Given the description of an element on the screen output the (x, y) to click on. 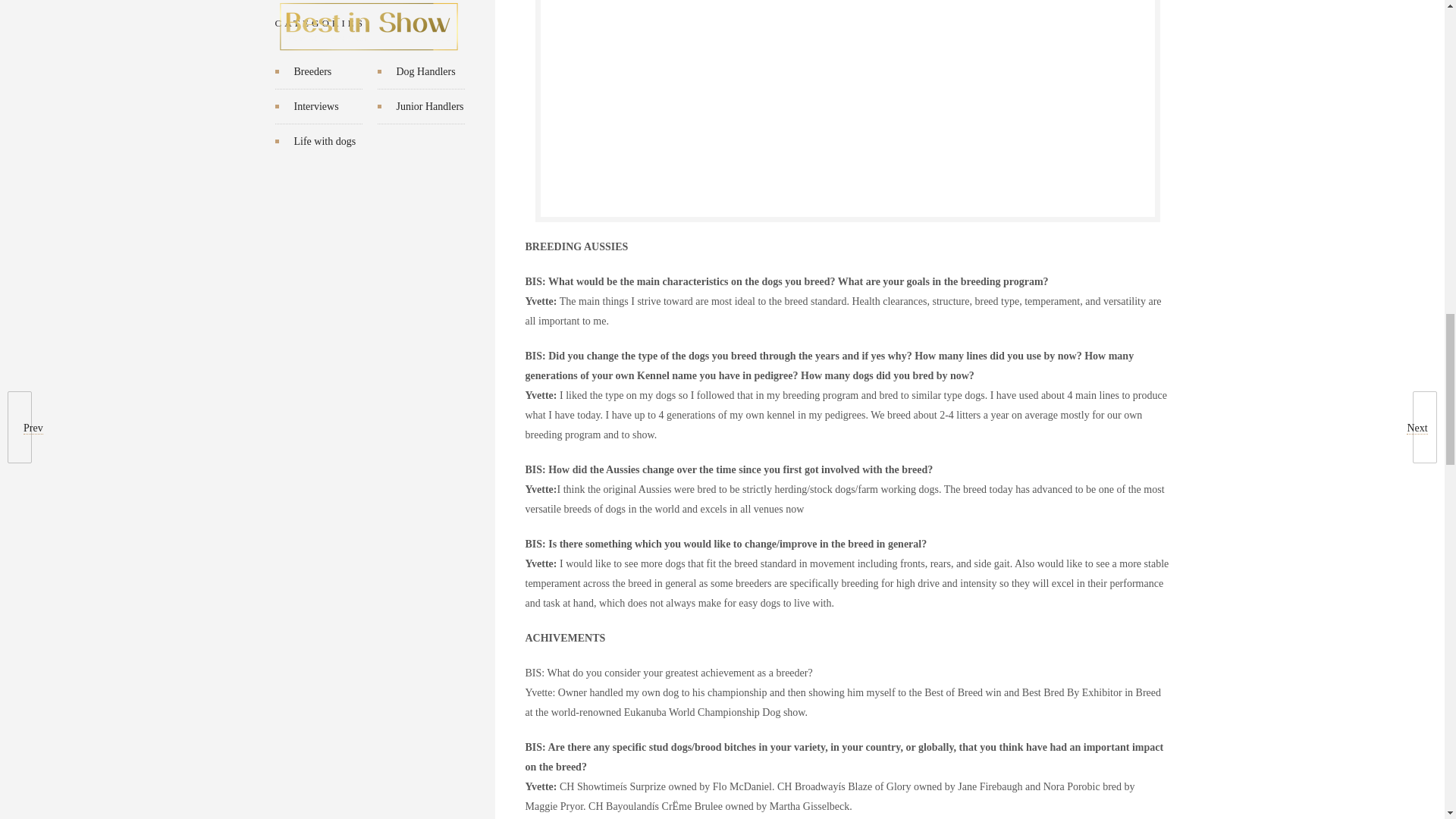
Dog Handlers (425, 71)
Junior Handlers (429, 106)
Breeders (312, 71)
Life with dogs (325, 141)
Interviews (316, 106)
